Given the description of an element on the screen output the (x, y) to click on. 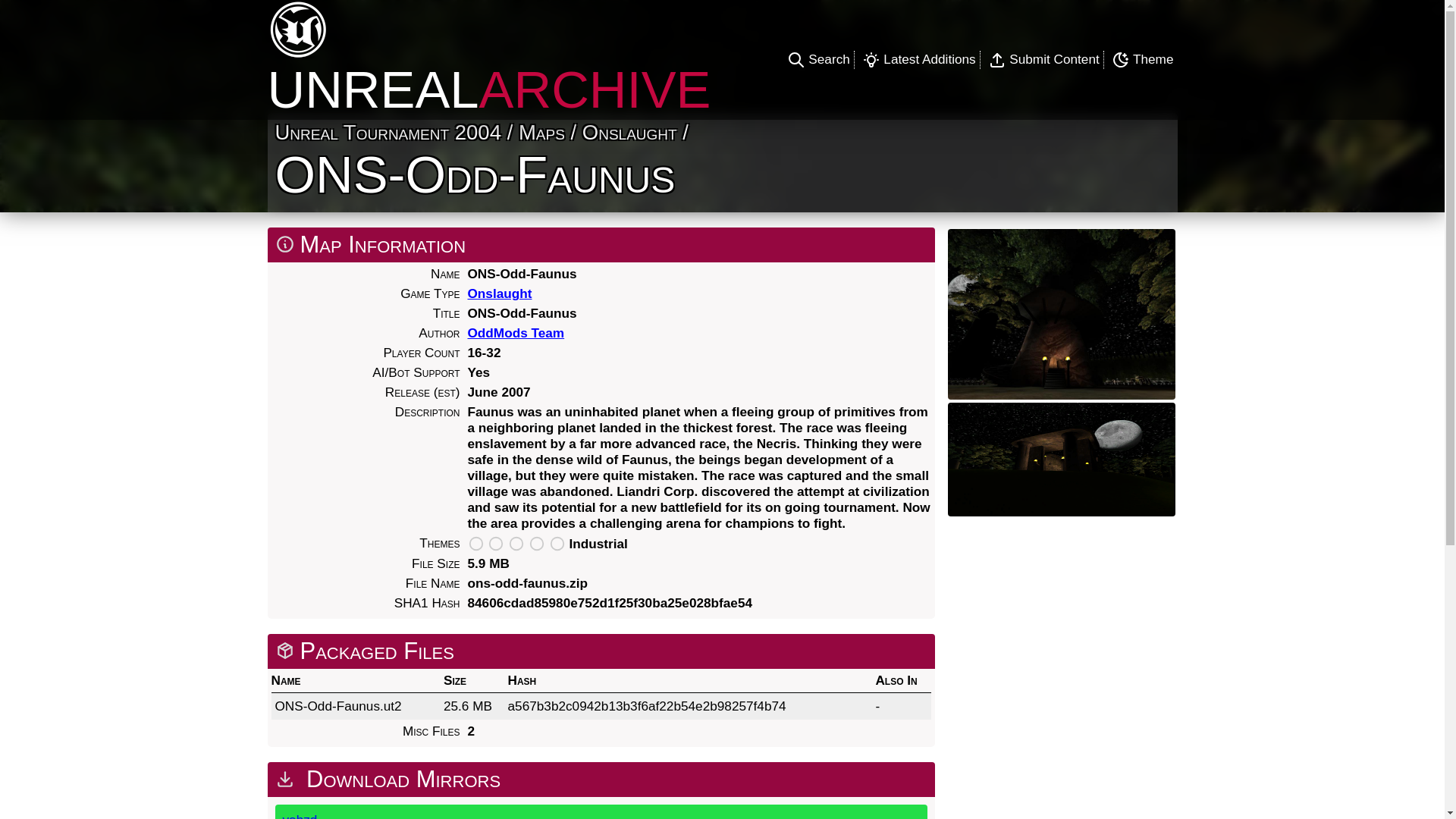
Theme (1142, 58)
Submit Content (1043, 58)
OddMods Team (515, 332)
Onslaught (499, 293)
Maps (541, 132)
Unreal Tournament 2004 (387, 132)
Search (818, 58)
Latest Additions (919, 58)
UNREALARCHIVE (494, 59)
OddMods Team (630, 333)
Onslaught (629, 132)
vohzd (600, 811)
